Given the description of an element on the screen output the (x, y) to click on. 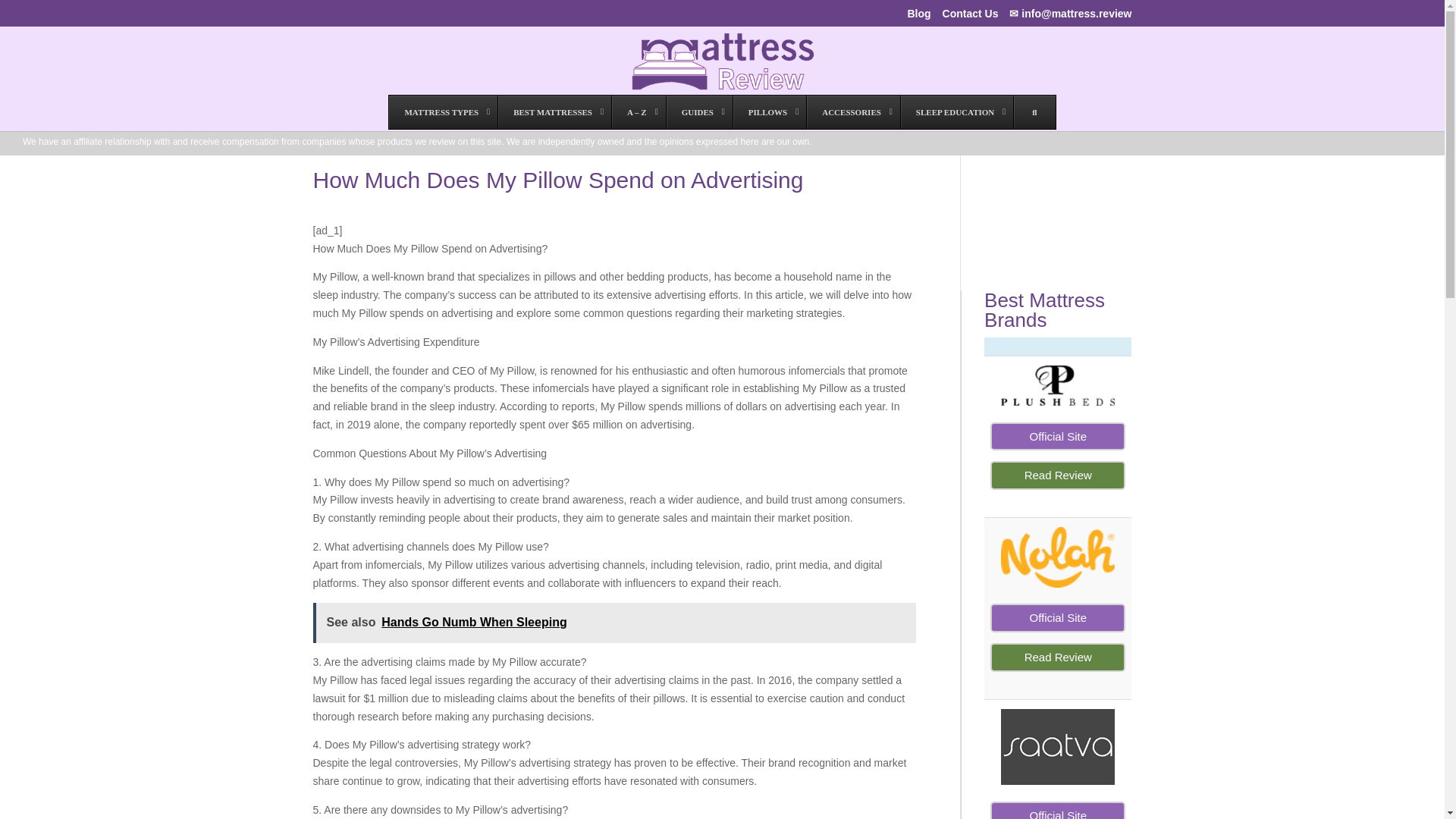
Contact Us (970, 16)
MATTRESS TYPES (442, 111)
Blog (918, 16)
